Given the description of an element on the screen output the (x, y) to click on. 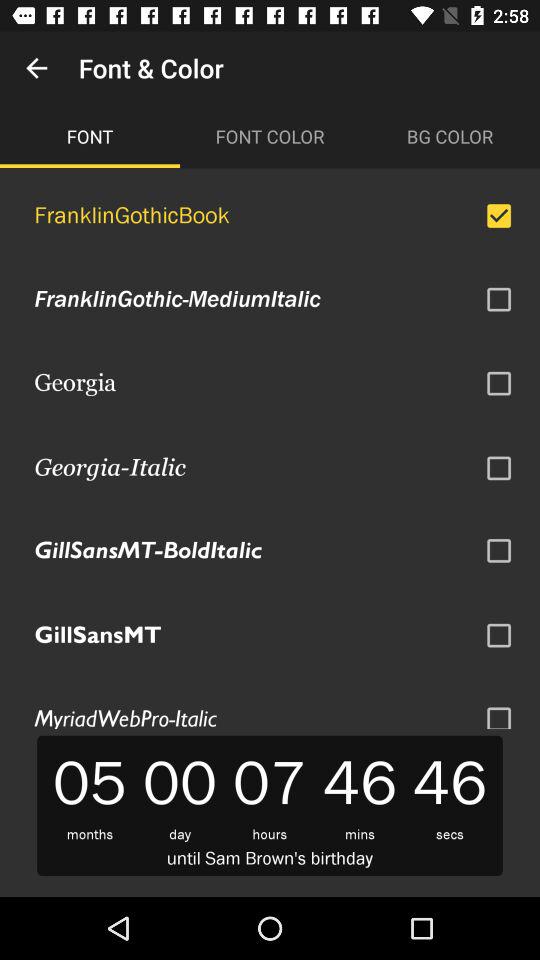
tap bg color item (450, 136)
